Given the description of an element on the screen output the (x, y) to click on. 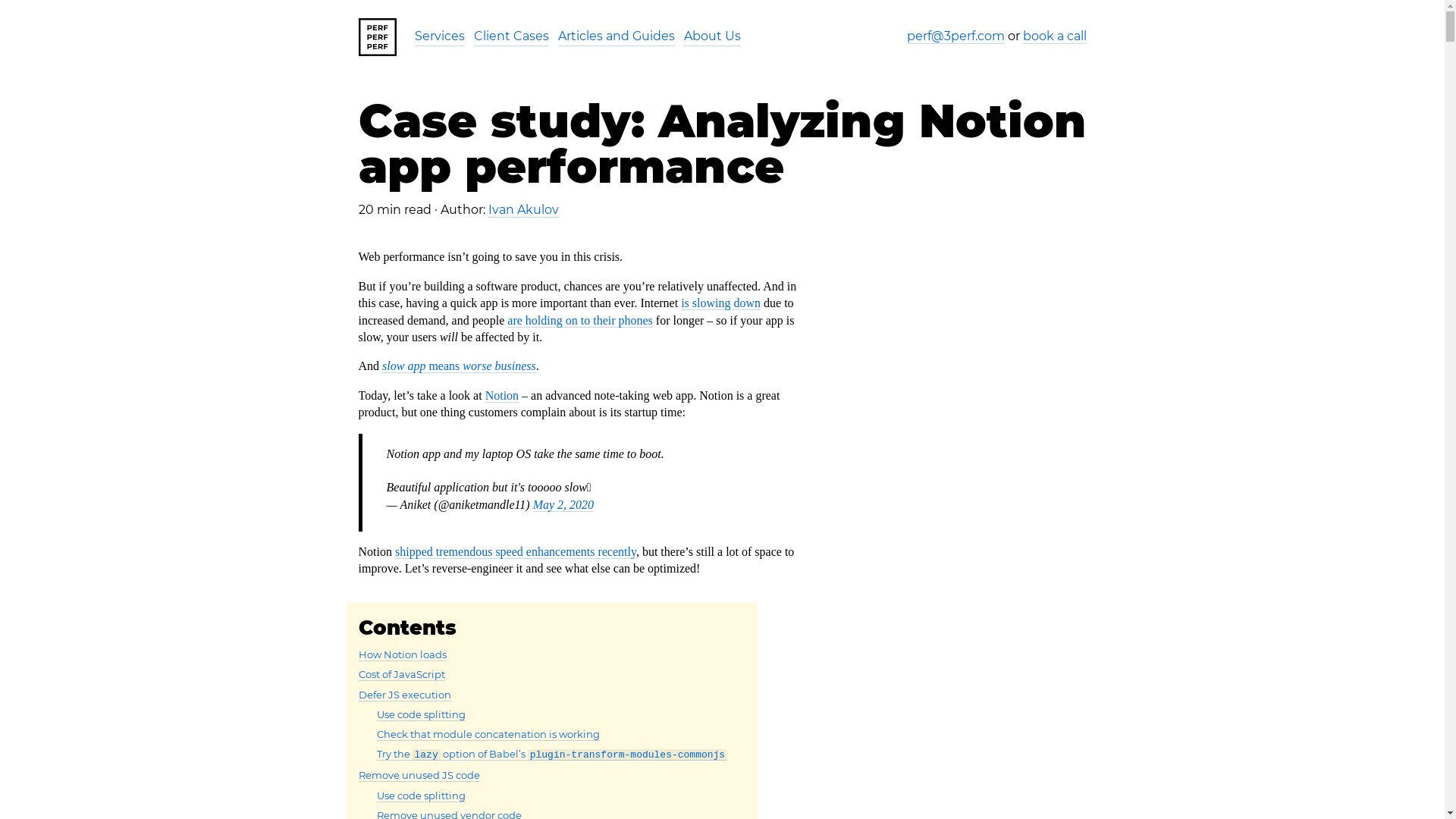
book a call Element type: text (1053, 35)
shipped tremendous speed enhancements recently Element type: text (515, 551)
Ivan Akulov Element type: text (523, 209)
Articles and Guides Element type: text (616, 36)
slow app means worse business Element type: text (459, 366)
Cost of JavaScript Element type: text (400, 674)
are holding on to their phones Element type: text (579, 320)
is slowing down Element type: text (720, 303)
Remove unused JS code Element type: text (418, 774)
How Notion loads Element type: text (401, 654)
Use code splitting Element type: text (420, 714)
Check that module concatenation is working Element type: text (487, 734)
Client Cases Element type: text (510, 36)
About Us Element type: text (712, 36)
Services Element type: text (439, 36)
May 2, 2020 Element type: text (563, 504)
Defer JS execution Element type: text (403, 694)
Notion Element type: text (501, 395)
Use code splitting Element type: text (420, 795)
perf@3perf.com Element type: text (955, 35)
